Given the description of an element on the screen output the (x, y) to click on. 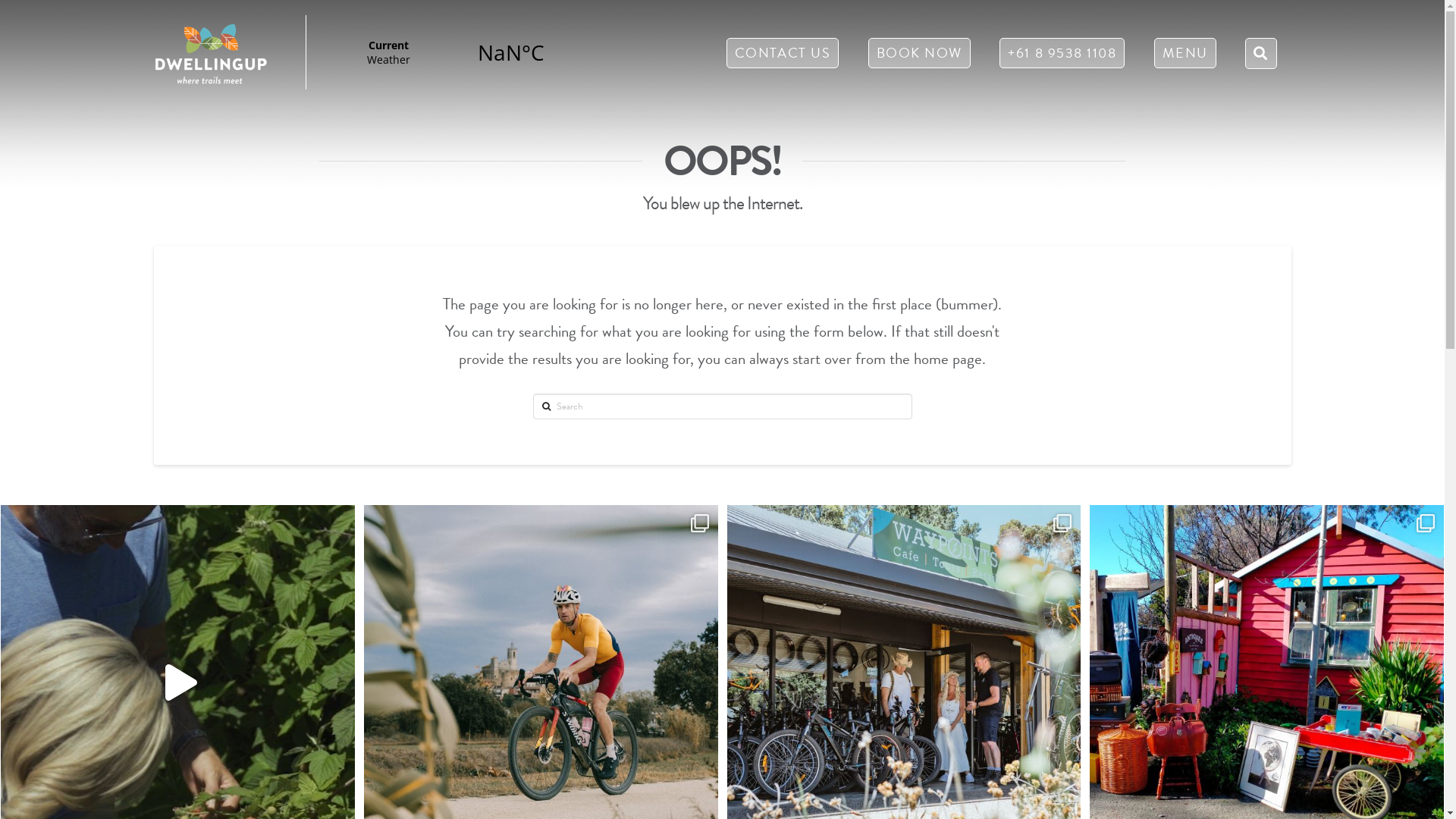
CONTACT US Element type: text (782, 56)
BOOK NOW Element type: text (919, 56)
+61 8 9538 1108 Element type: text (1061, 56)
Current Weather Element type: text (449, 52)
MENU Element type: text (1184, 56)
Weather Widget Element type: hover (449, 52)
